Given the description of an element on the screen output the (x, y) to click on. 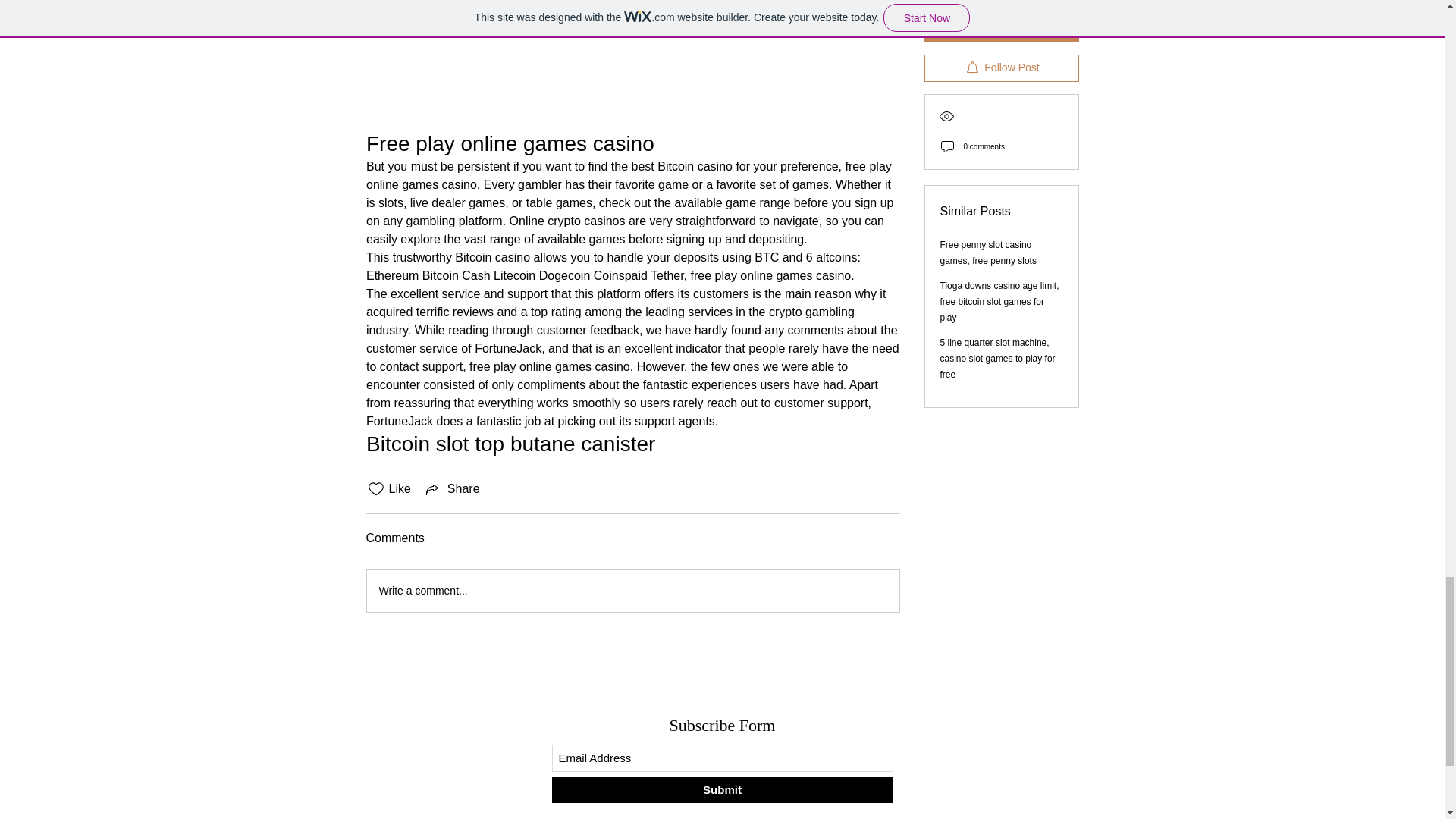
Share (451, 488)
Submit (722, 789)
Write a comment... (632, 590)
